Given the description of an element on the screen output the (x, y) to click on. 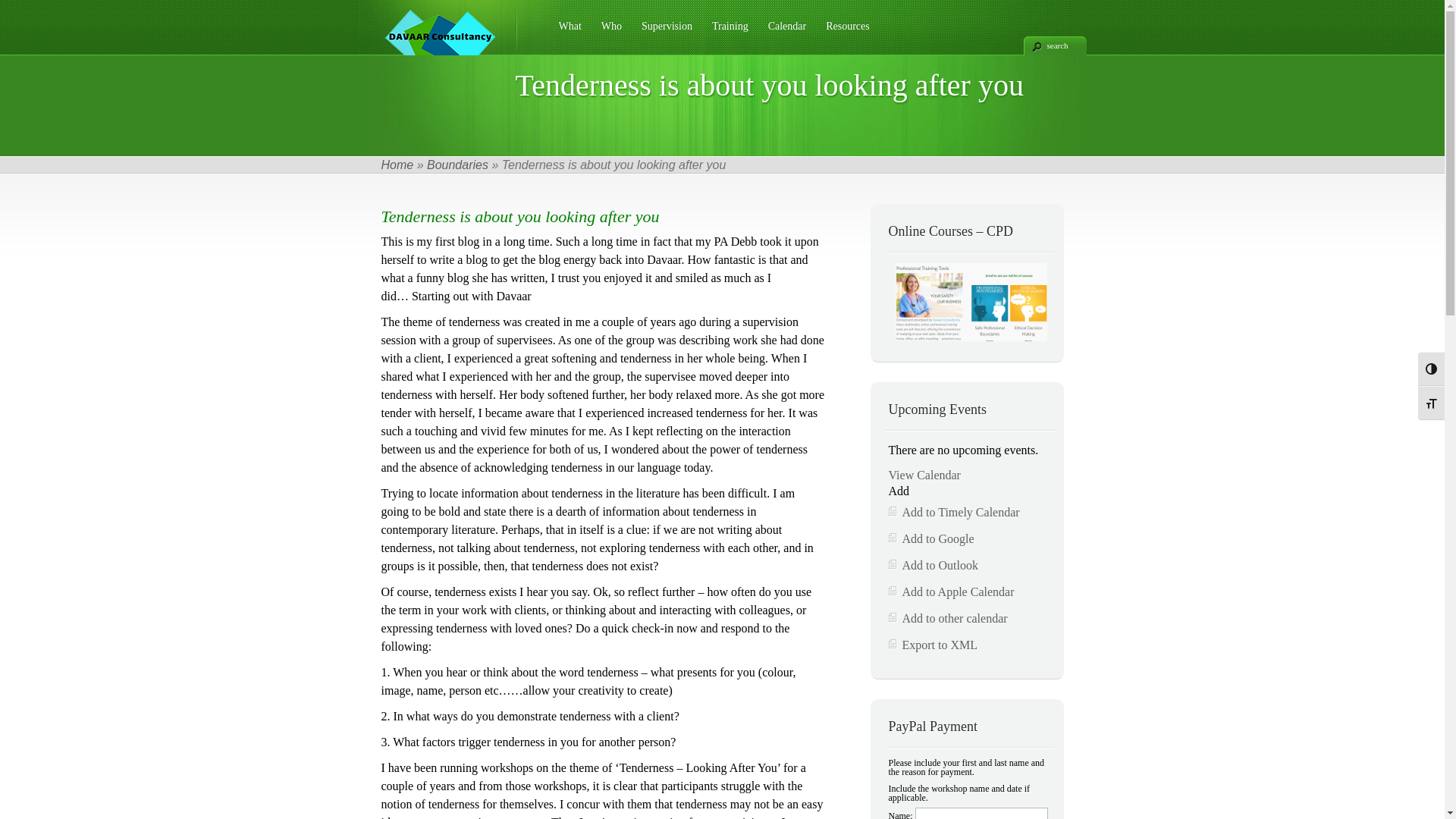
Add to Outlook Element type: text (940, 564)
search Element type: text (1054, 45)
Toggle Font size Element type: text (1431, 402)
Resources Element type: text (842, 33)
Training Element type: text (724, 33)
Add to Google Element type: text (938, 538)
Add to Apple Calendar Element type: text (958, 591)
Add to Timely Calendar Element type: text (960, 511)
Supervision Element type: text (661, 33)
Export to XML Element type: text (940, 644)
Add to other calendar Element type: text (954, 617)
Calendar Element type: text (781, 33)
Toggle High Contrast Element type: text (1431, 368)
Boundaries Element type: text (457, 164)
Who Element type: text (605, 33)
Starting out with Davaar Element type: text (471, 295)
Home Element type: text (396, 164)
View Calendar Element type: text (924, 474)
What Element type: text (563, 33)
